Given the description of an element on the screen output the (x, y) to click on. 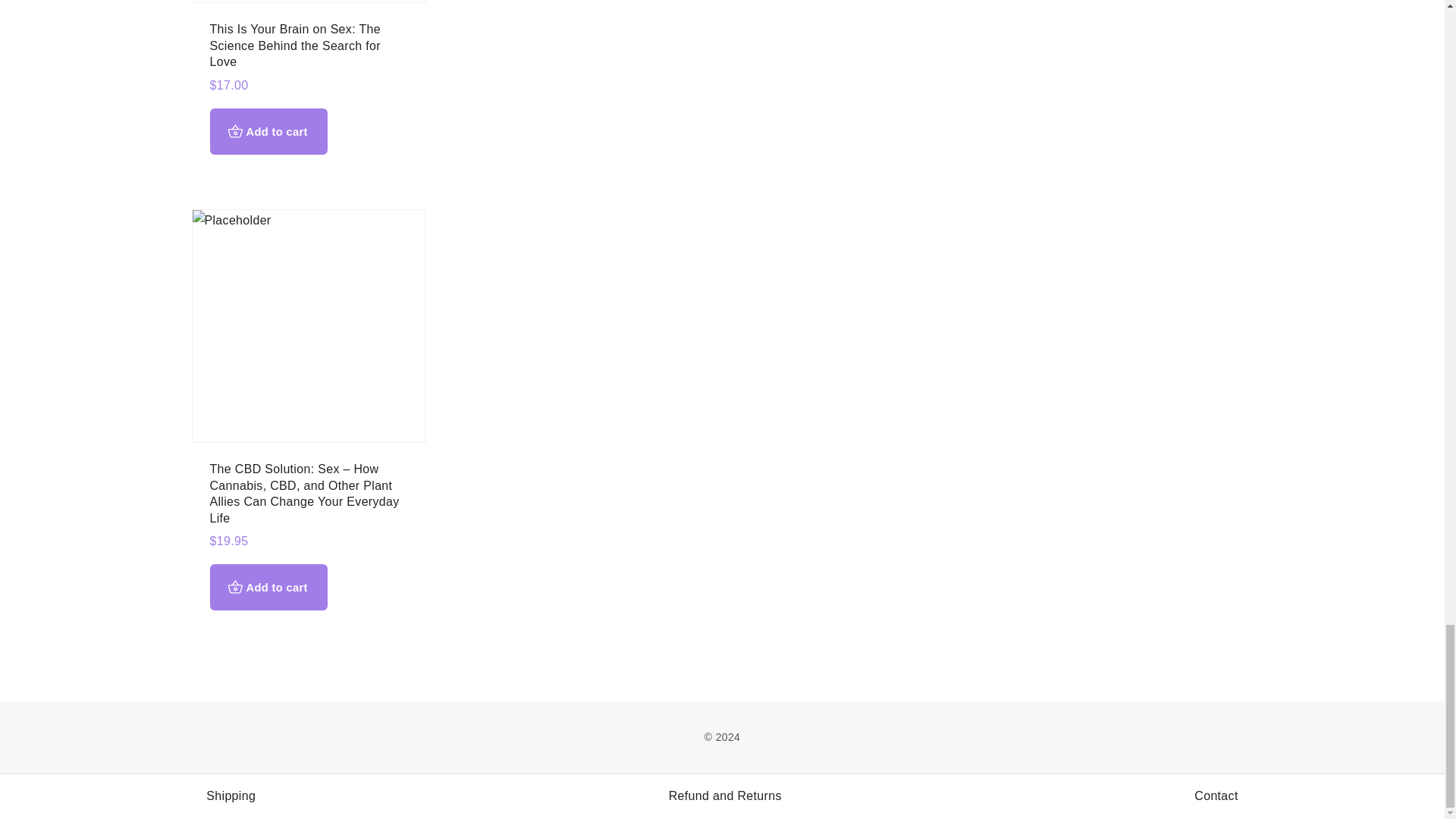
Add to cart (267, 131)
Add to cart (267, 587)
